Given the description of an element on the screen output the (x, y) to click on. 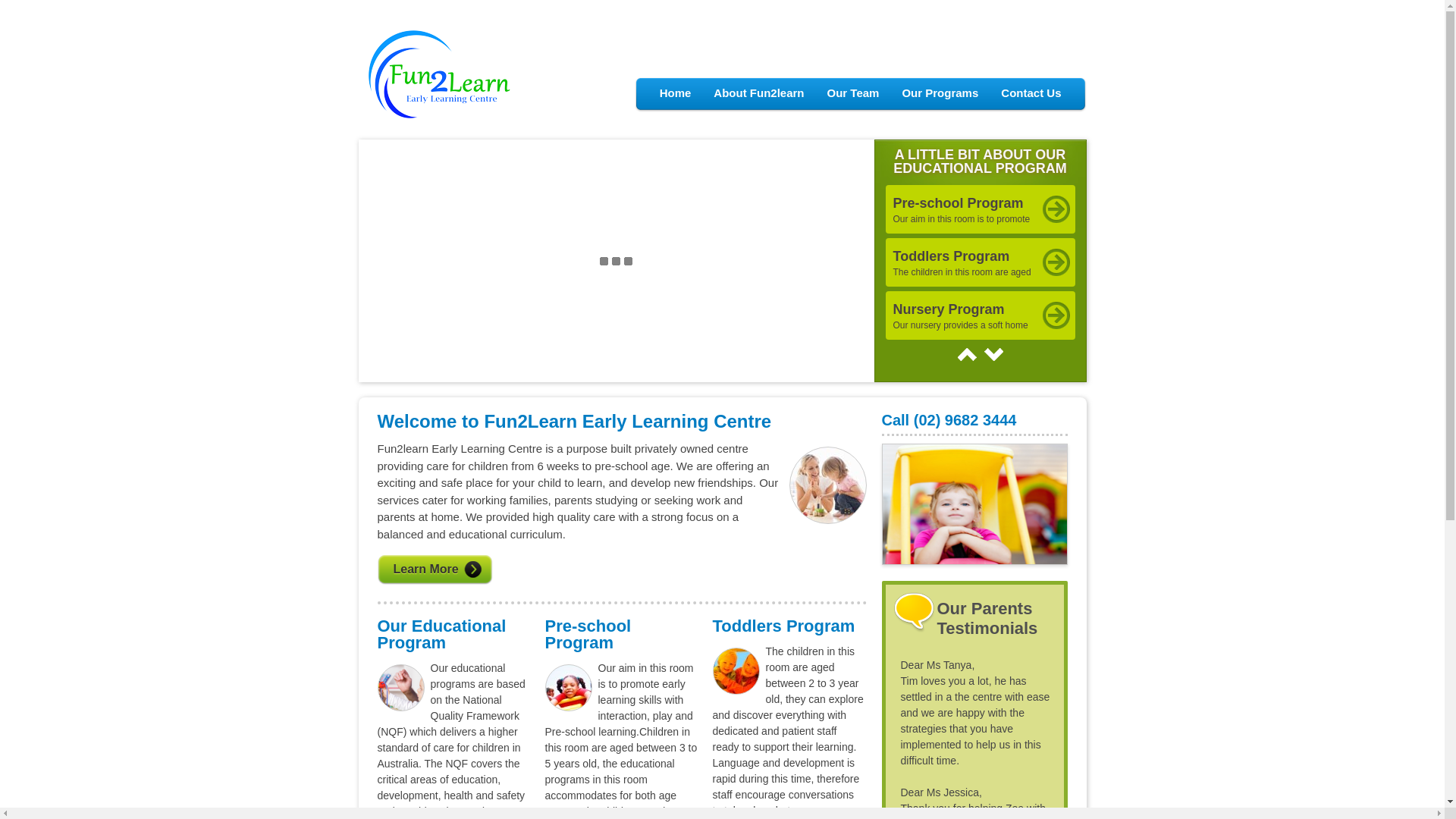
Home Element type: text (675, 93)
Prev Element type: text (966, 354)
Our Programs Element type: text (939, 93)
Pre-school Program
Our aim in this room is to promote
  Element type: text (980, 209)
Our Team Element type: text (853, 93)
Nursery Program
Our nursery provides a soft home
  Element type: text (980, 315)
Fun2Learn Element type: hover (437, 117)
Learn More Element type: text (621, 570)
About Fun2learn Element type: text (758, 93)
Next Element type: text (993, 354)
Our Parents Testimonials Element type: text (987, 618)
Toddlers Program
The children in this room are aged
  Element type: text (980, 262)
Contact Us Element type: text (1030, 93)
